Given the description of an element on the screen output the (x, y) to click on. 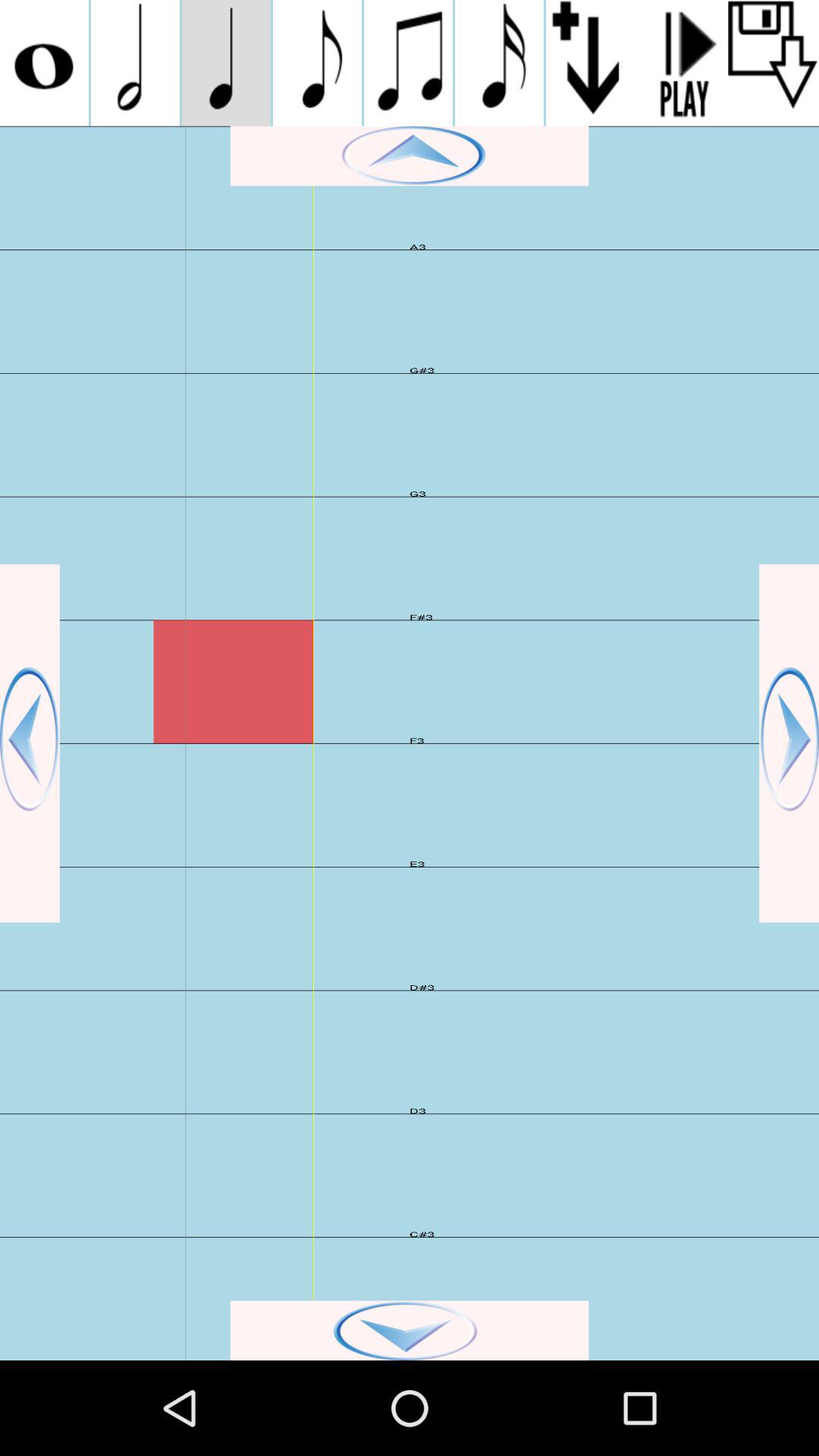
go to next page (789, 742)
